Given the description of an element on the screen output the (x, y) to click on. 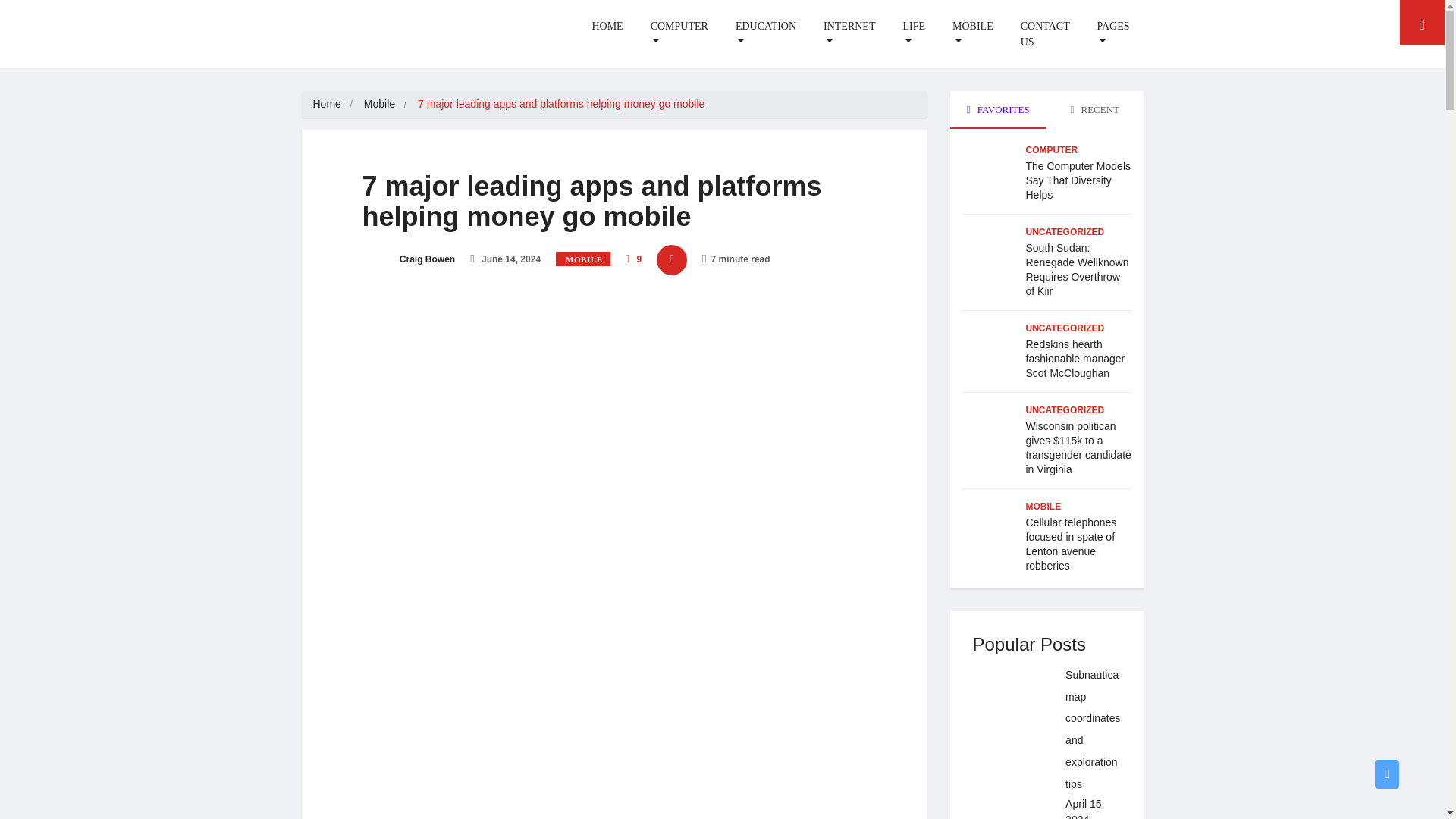
MOBILE (973, 33)
HOME (607, 25)
Subnautica map coordinates and exploration tips (1012, 701)
COMPUTER (679, 33)
Home (326, 103)
PAGES (1112, 33)
EDUCATION (765, 33)
INTERNET (848, 33)
CONTACT US (1045, 33)
